Given the description of an element on the screen output the (x, y) to click on. 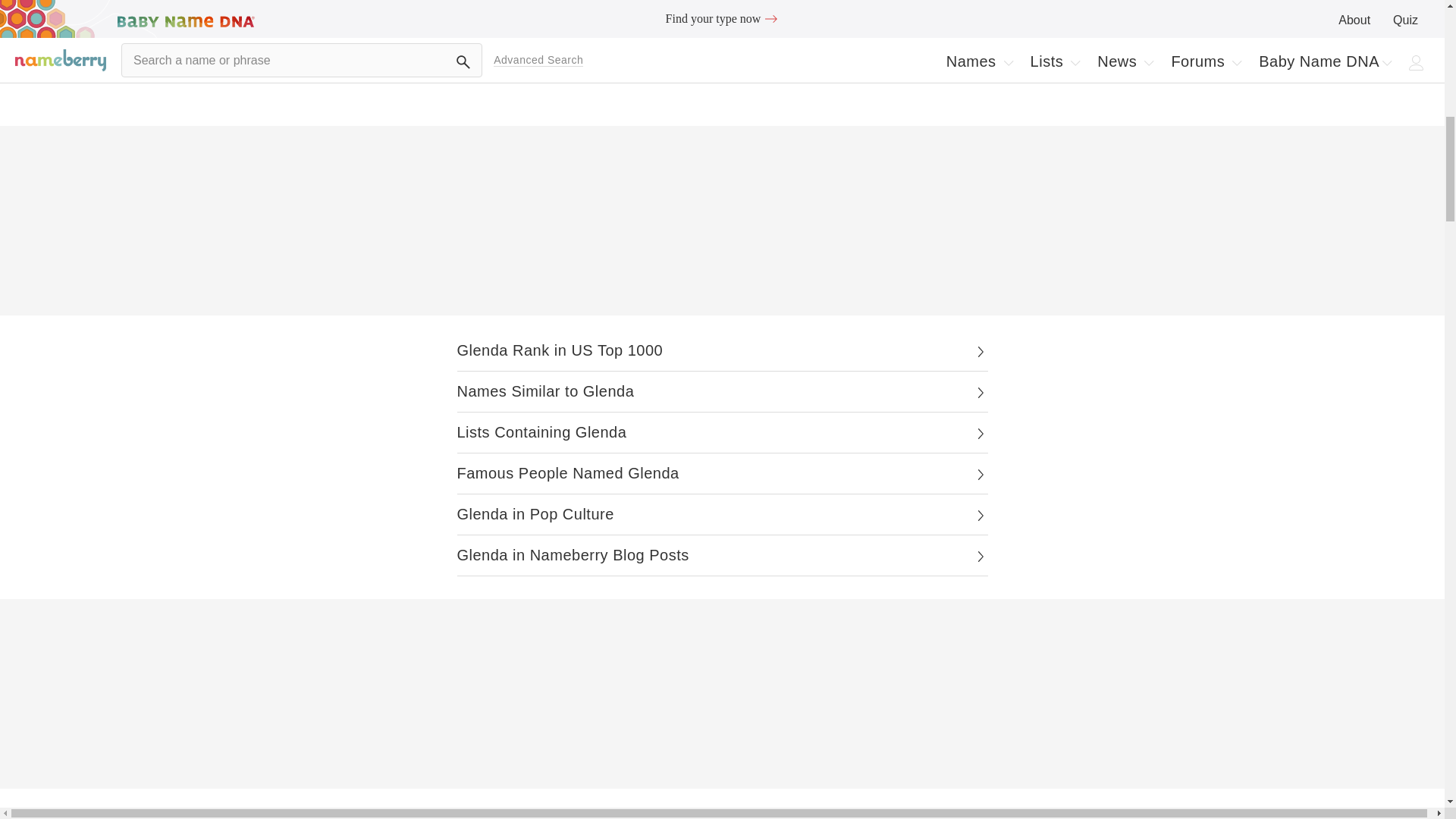
Chevron - Right (979, 474)
Chevron - Right (979, 351)
Chevron - Right (979, 515)
Chevron - Right (979, 556)
Chevron - Right (979, 392)
Chevron - Right (979, 433)
